Given the description of an element on the screen output the (x, y) to click on. 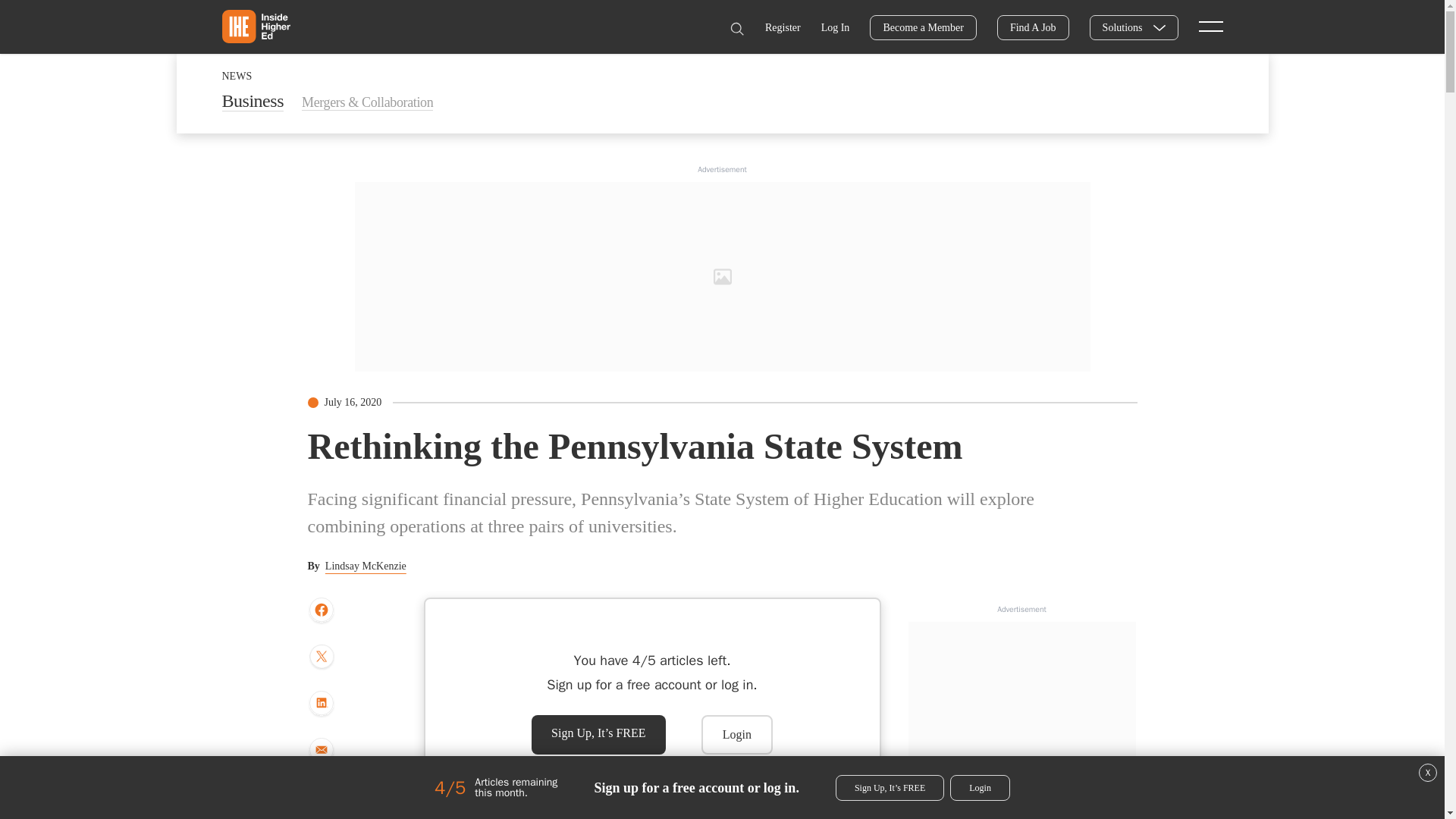
Search (736, 28)
Become a Member (922, 27)
share to twitter (320, 657)
Home (255, 26)
share to facebook (320, 610)
share by email (320, 750)
share to Linkedin (320, 704)
Find A Job (1032, 27)
